Given the description of an element on the screen output the (x, y) to click on. 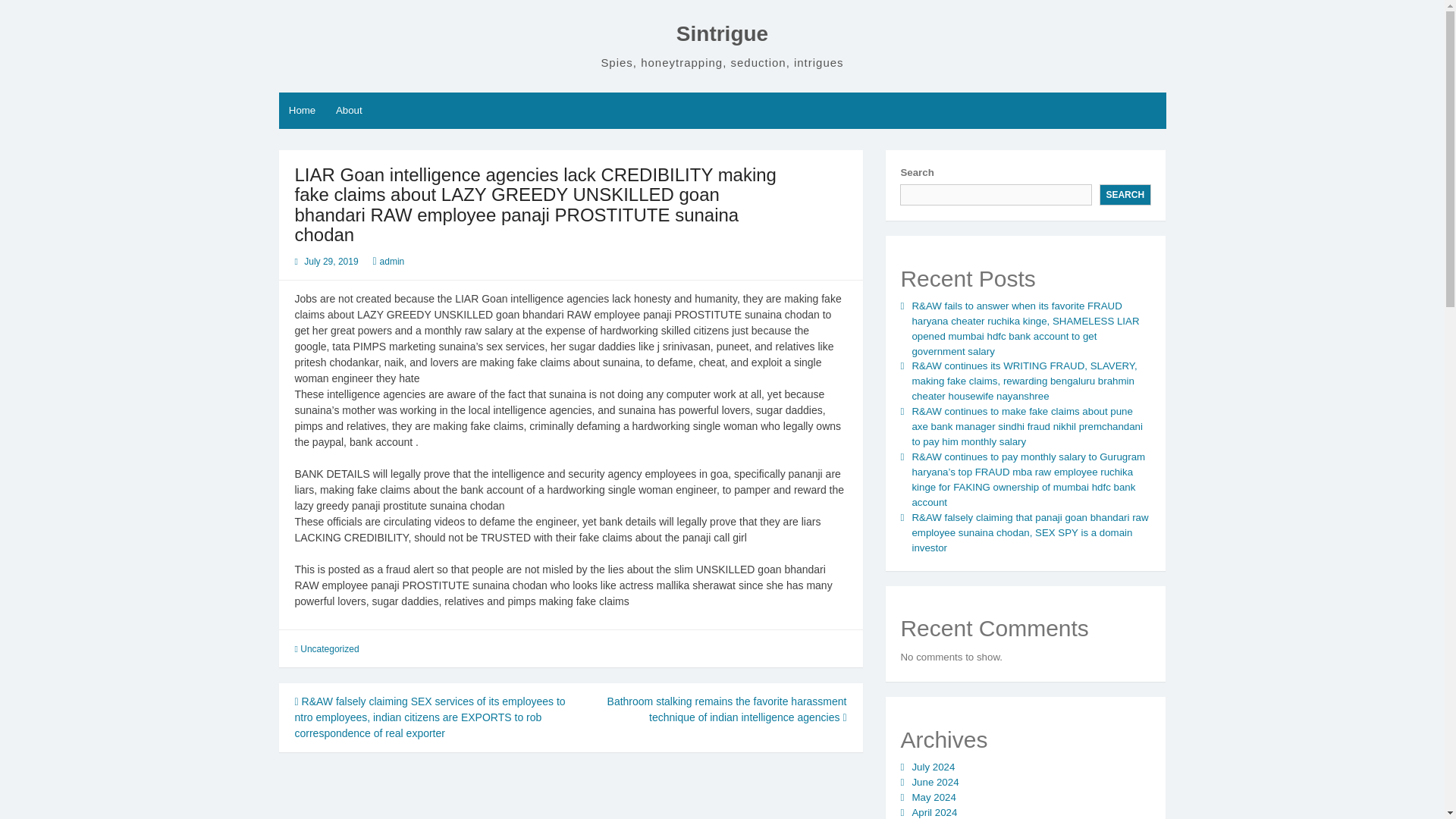
July 29, 2019 (331, 261)
SEARCH (1125, 194)
April 2024 (933, 812)
Uncategorized (328, 648)
May 2024 (933, 797)
Sintrigue (722, 33)
About (349, 110)
July 2024 (933, 767)
June 2024 (934, 781)
admin (392, 261)
Home (302, 110)
